Given the description of an element on the screen output the (x, y) to click on. 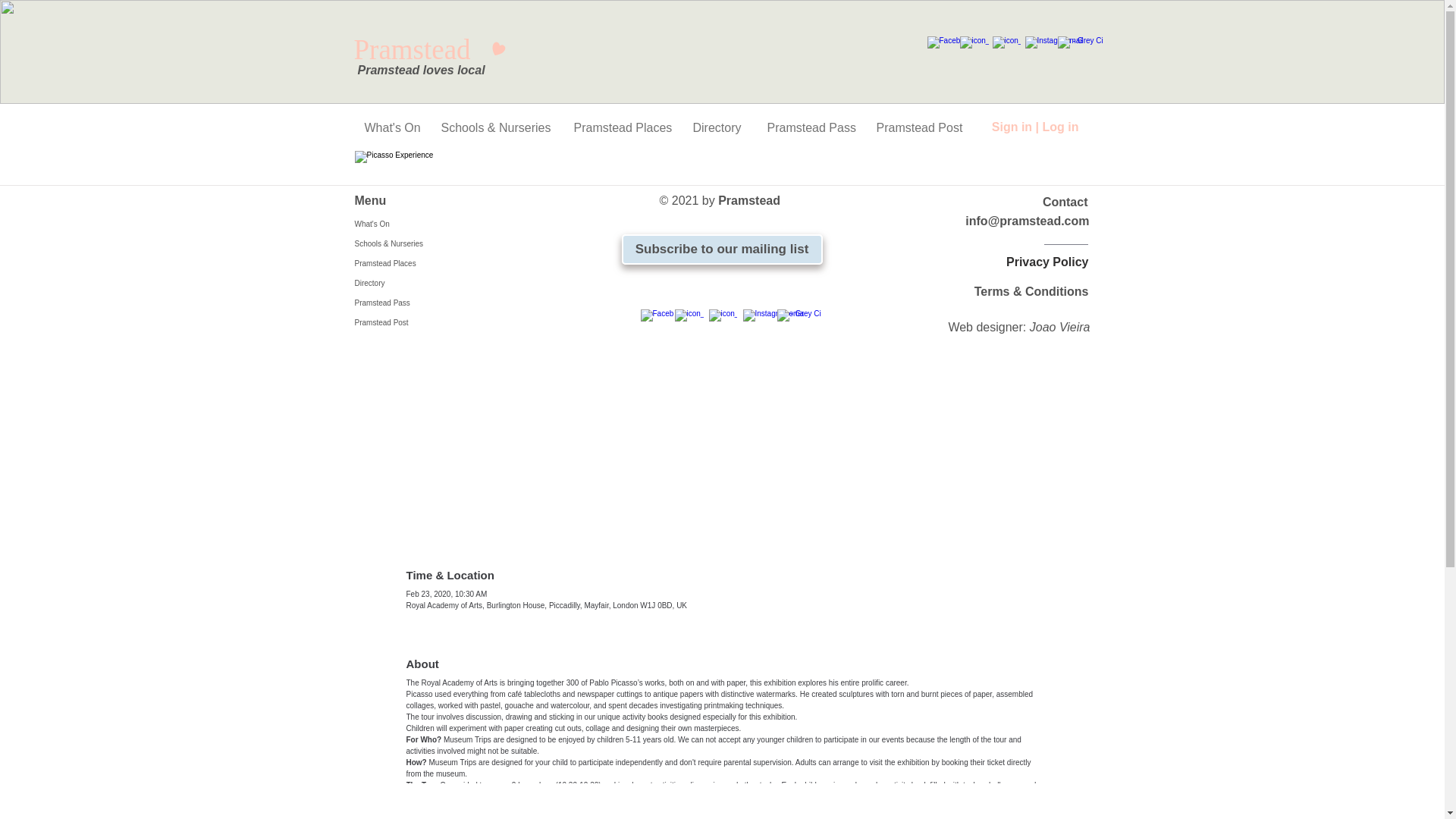
Pramstead Post (918, 127)
Pramstead (429, 49)
What's On (425, 224)
Directory (718, 127)
Pramstead Places (621, 127)
Pramstead Pass (809, 127)
What's On (391, 127)
